Given the description of an element on the screen output the (x, y) to click on. 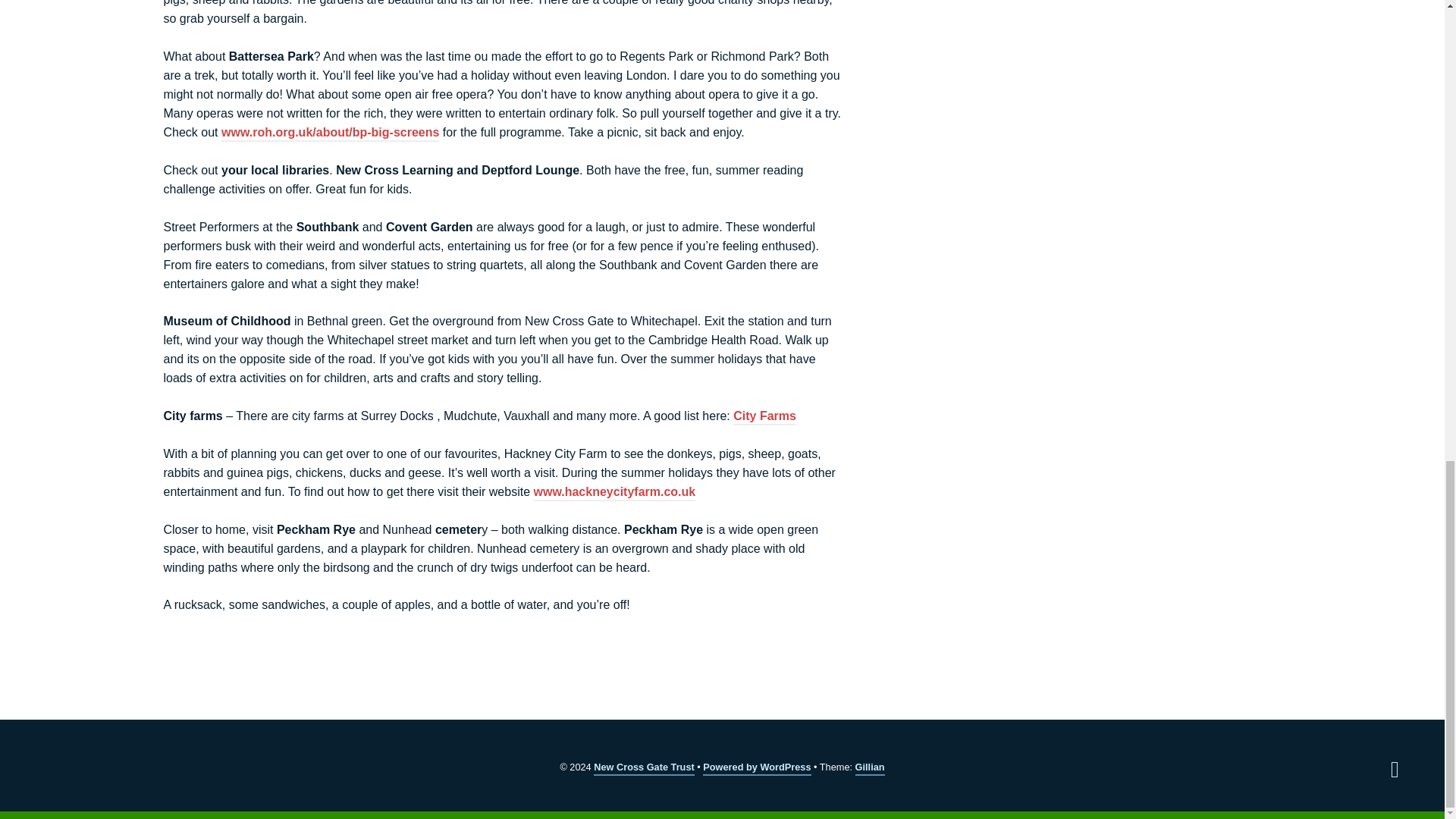
www.hackneycityfarm.co.uk (614, 493)
City Farms (764, 417)
